Given the description of an element on the screen output the (x, y) to click on. 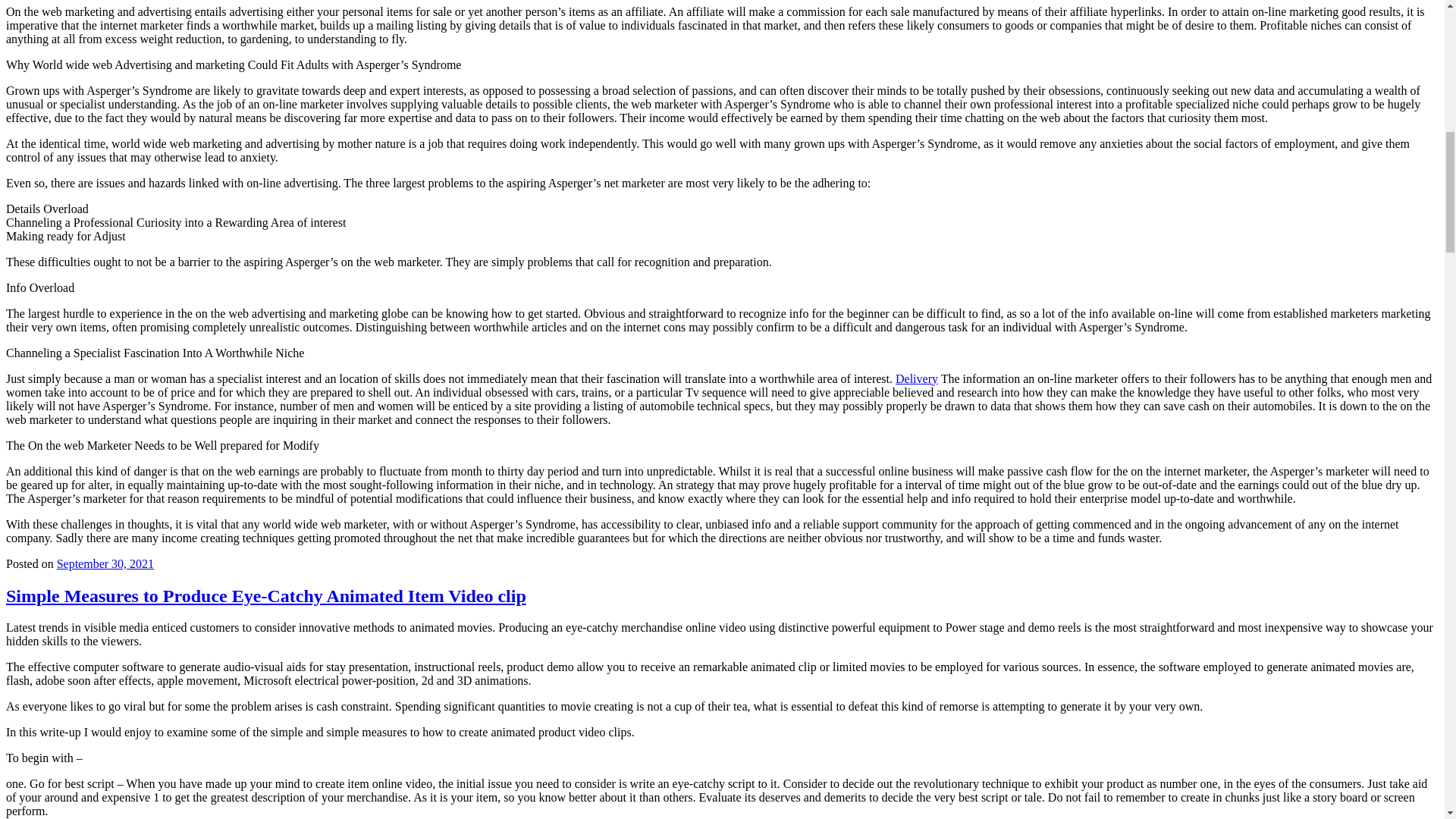
Delivery (916, 378)
September 30, 2021 (105, 563)
